Given the description of an element on the screen output the (x, y) to click on. 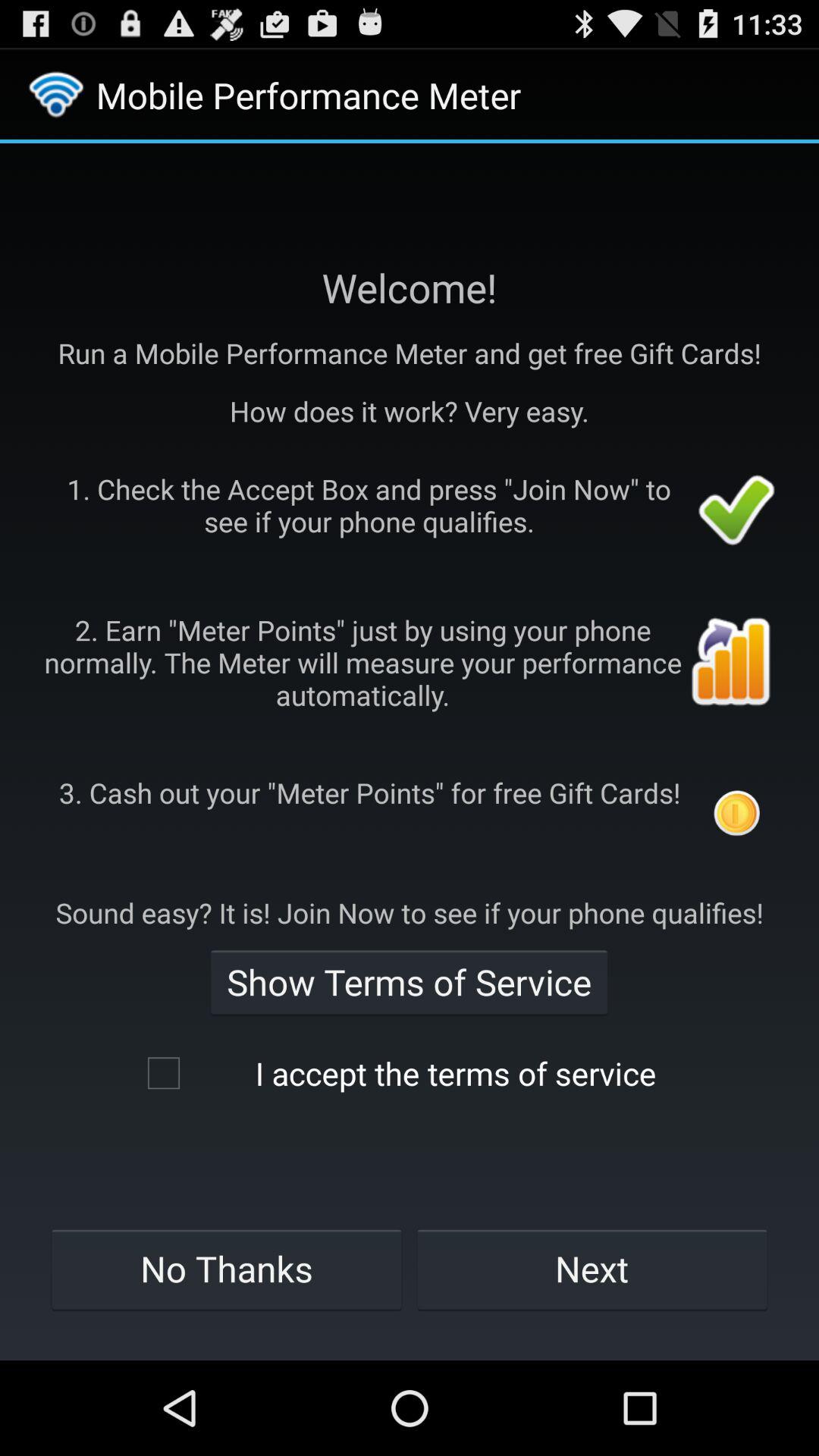
press button to the left of the next (226, 1268)
